Given the description of an element on the screen output the (x, y) to click on. 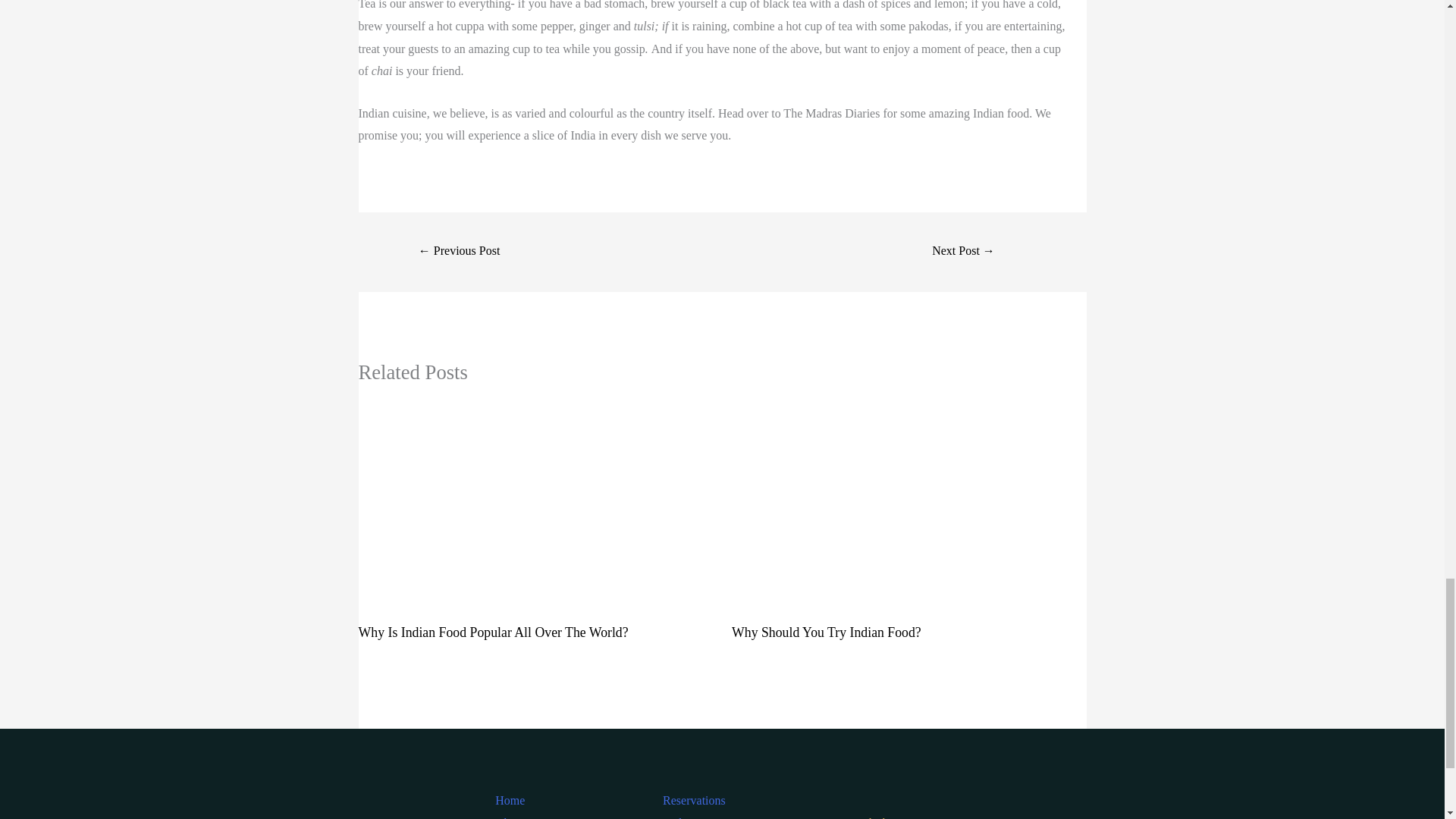
Why Is Indian Food Popular All Over The World? (492, 631)
Milagu Rasam: The Ultimate Comfort for Cold Weather (962, 252)
Why Should You Try Indian Food? (826, 631)
